Given the description of an element on the screen output the (x, y) to click on. 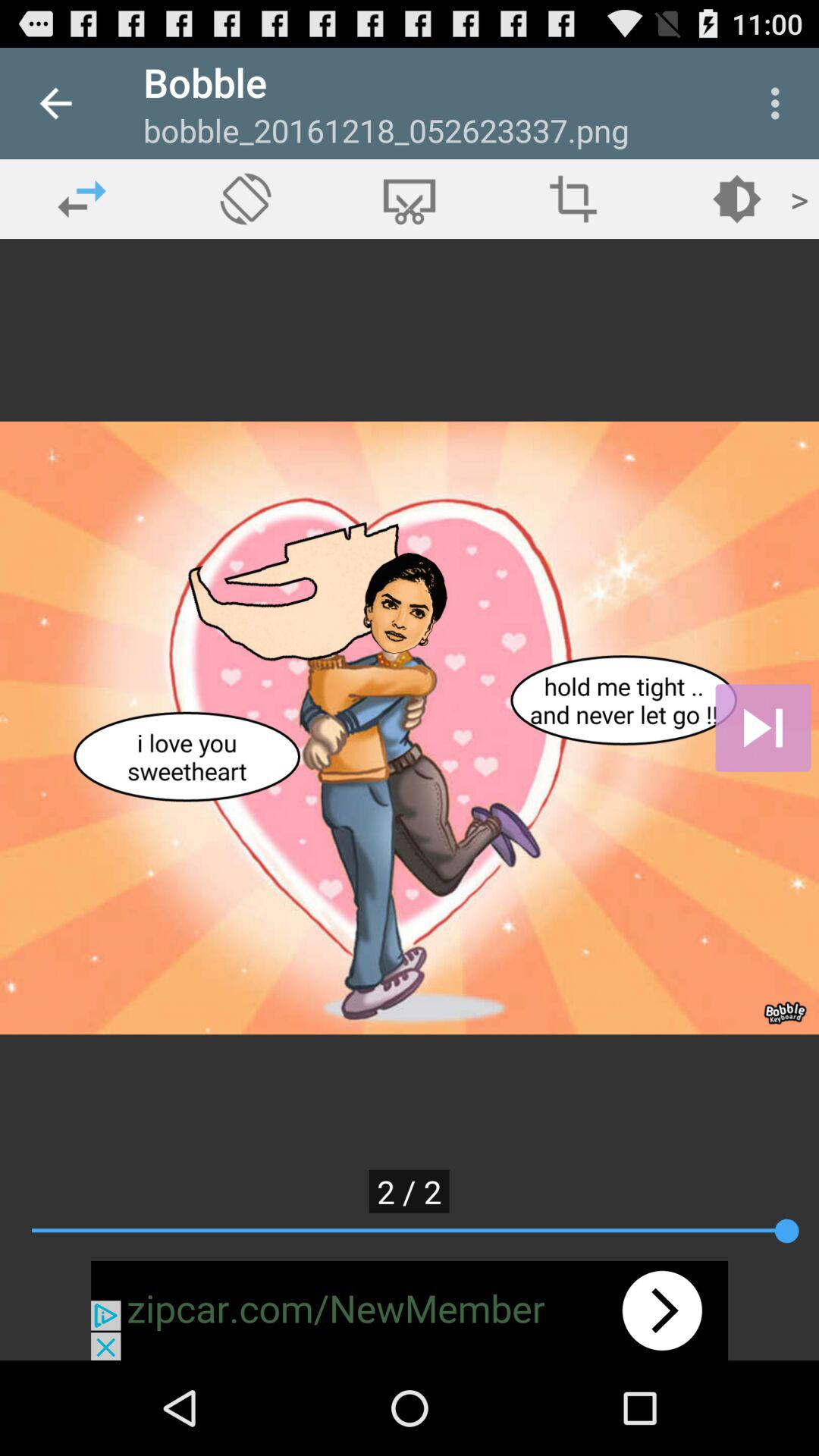
change brightness (737, 198)
